Given the description of an element on the screen output the (x, y) to click on. 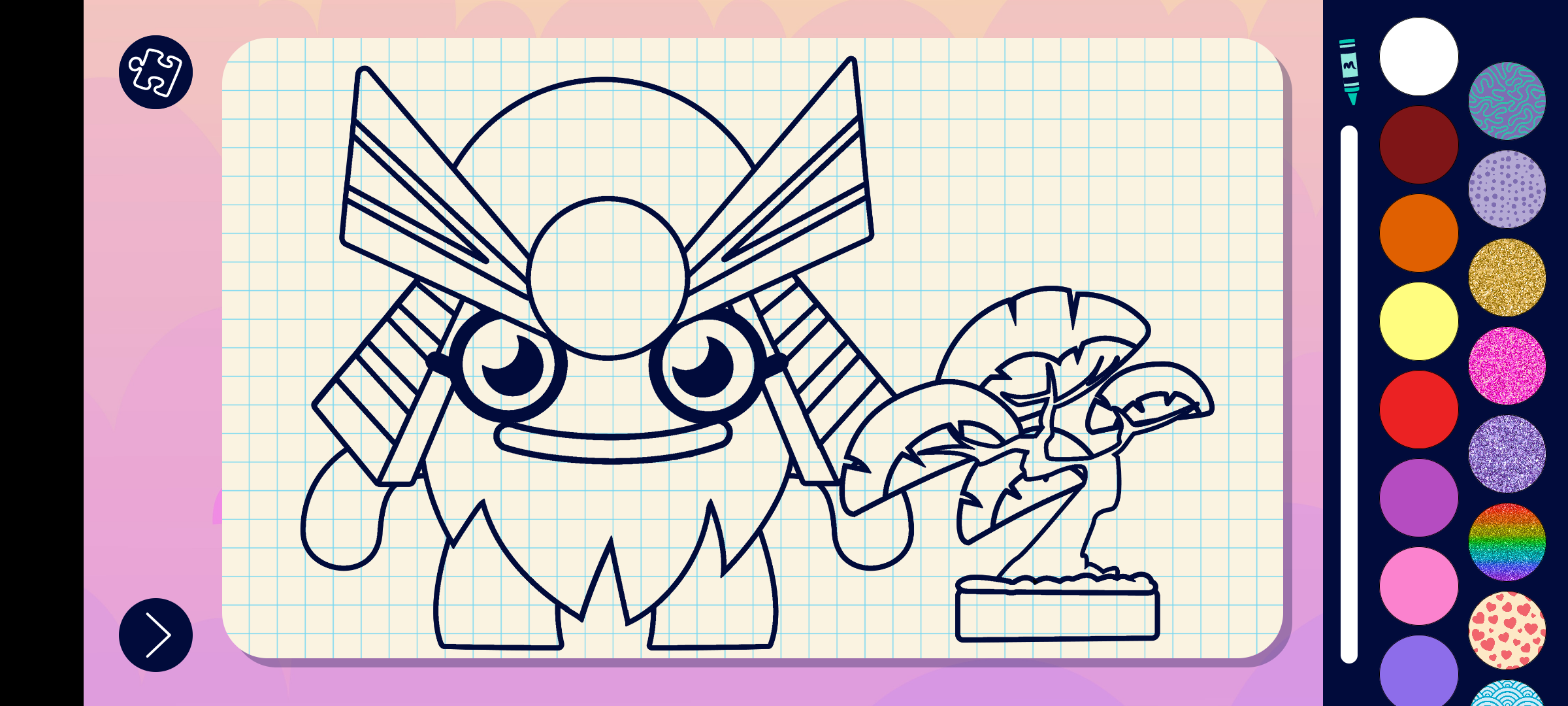
coloring background (1507, 101)
coloring background (1507, 189)
coloring background (1507, 277)
coloring background (1507, 365)
coloring background (1507, 454)
coloring background (1507, 542)
coloring background (1507, 630)
